Given the description of an element on the screen output the (x, y) to click on. 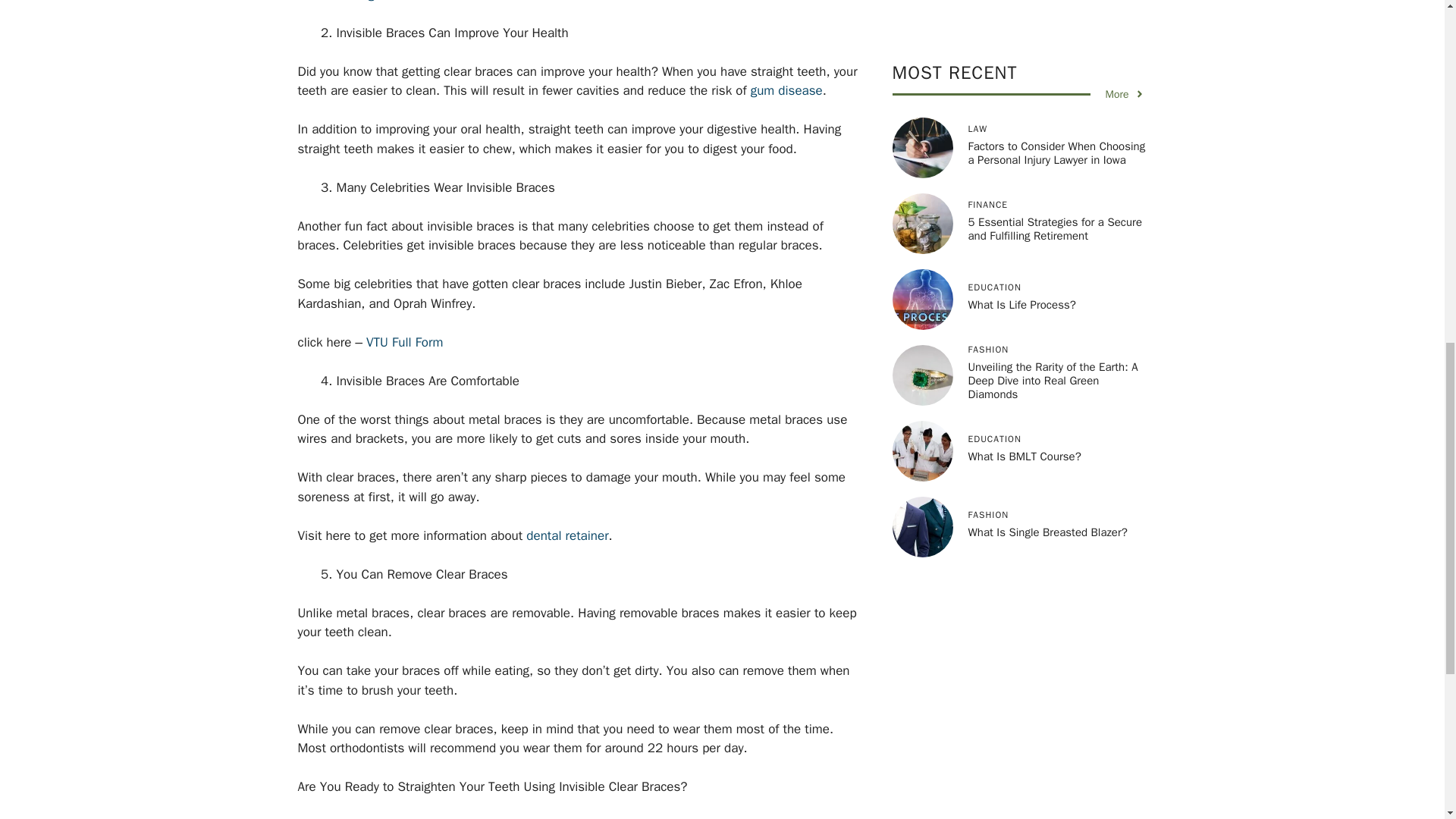
dental retainer (566, 535)
gum disease (786, 90)
VTU Full Form (404, 342)
